Given the description of an element on the screen output the (x, y) to click on. 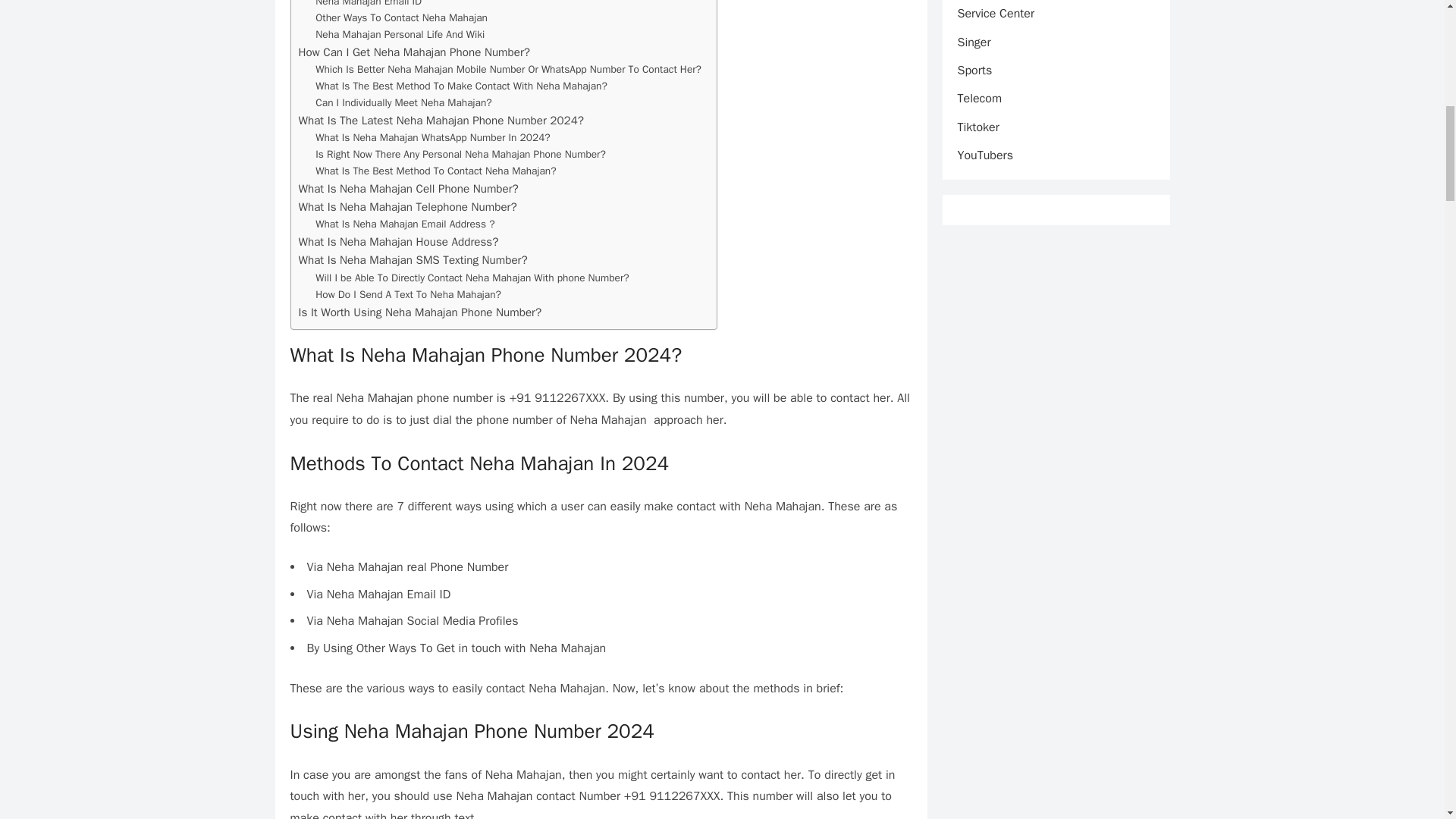
How Can I Get Neha Mahajan Phone Number? (413, 52)
What Is The Best  Method  To Make Contact With Neha Mahajan? (461, 86)
What Is The Latest Neha Mahajan Phone Number 2024? (440, 120)
What Is The Best Method To Make Contact With Neha Mahajan? (461, 86)
What Is Neha Mahajan WhatsApp Number In 2024? (432, 137)
How Can I Get Neha Mahajan Phone Number? (413, 52)
Can I Individually Meet Neha Mahajan? (403, 103)
Neha Mahajan Email ID (368, 4)
Other  Ways To Contact Neha Mahajan (401, 17)
